Given the description of an element on the screen output the (x, y) to click on. 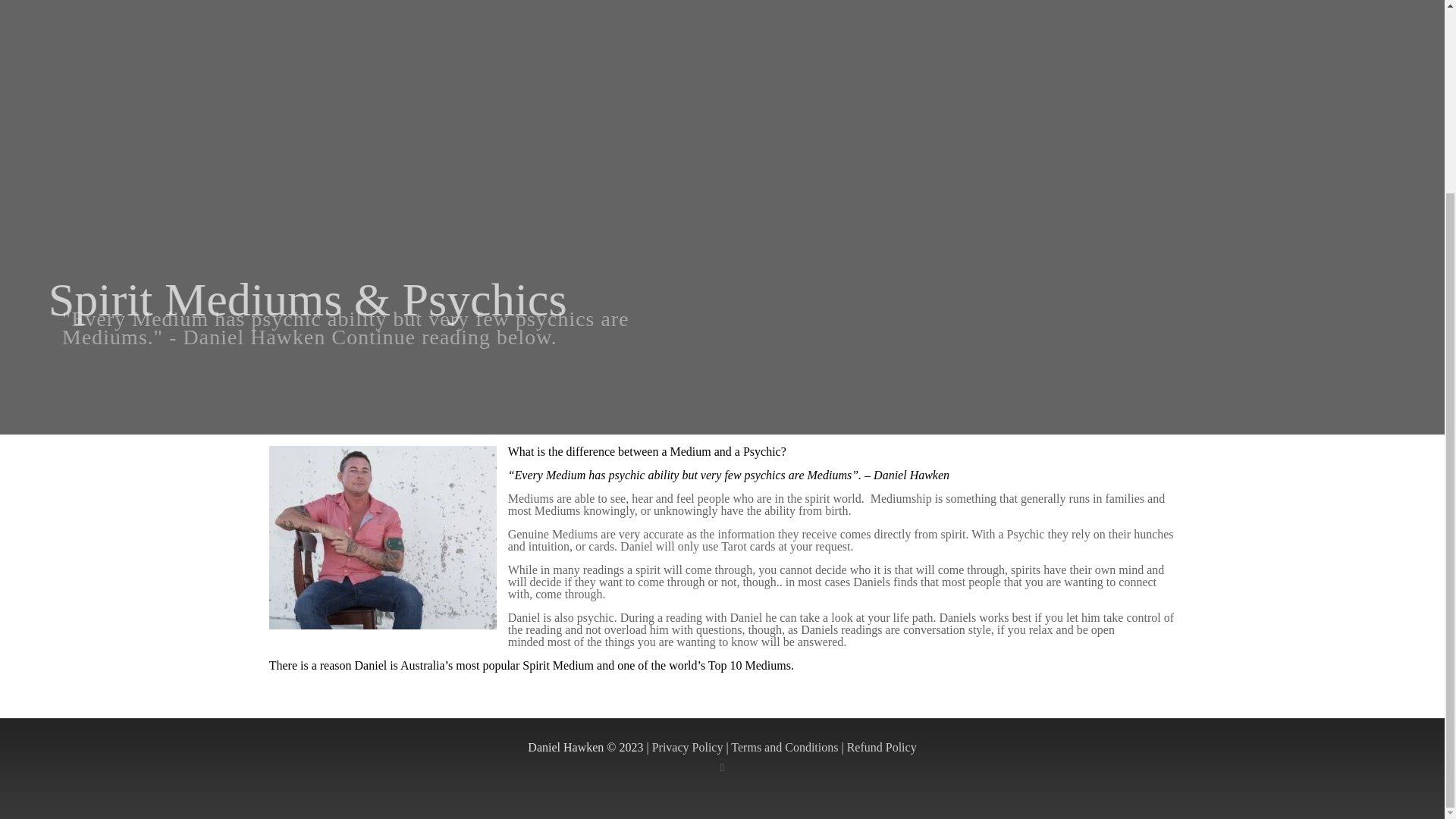
Terms and Conditions (784, 747)
Facebook (722, 767)
Privacy Policy (687, 747)
Refund Policy (882, 747)
